Given the description of an element on the screen output the (x, y) to click on. 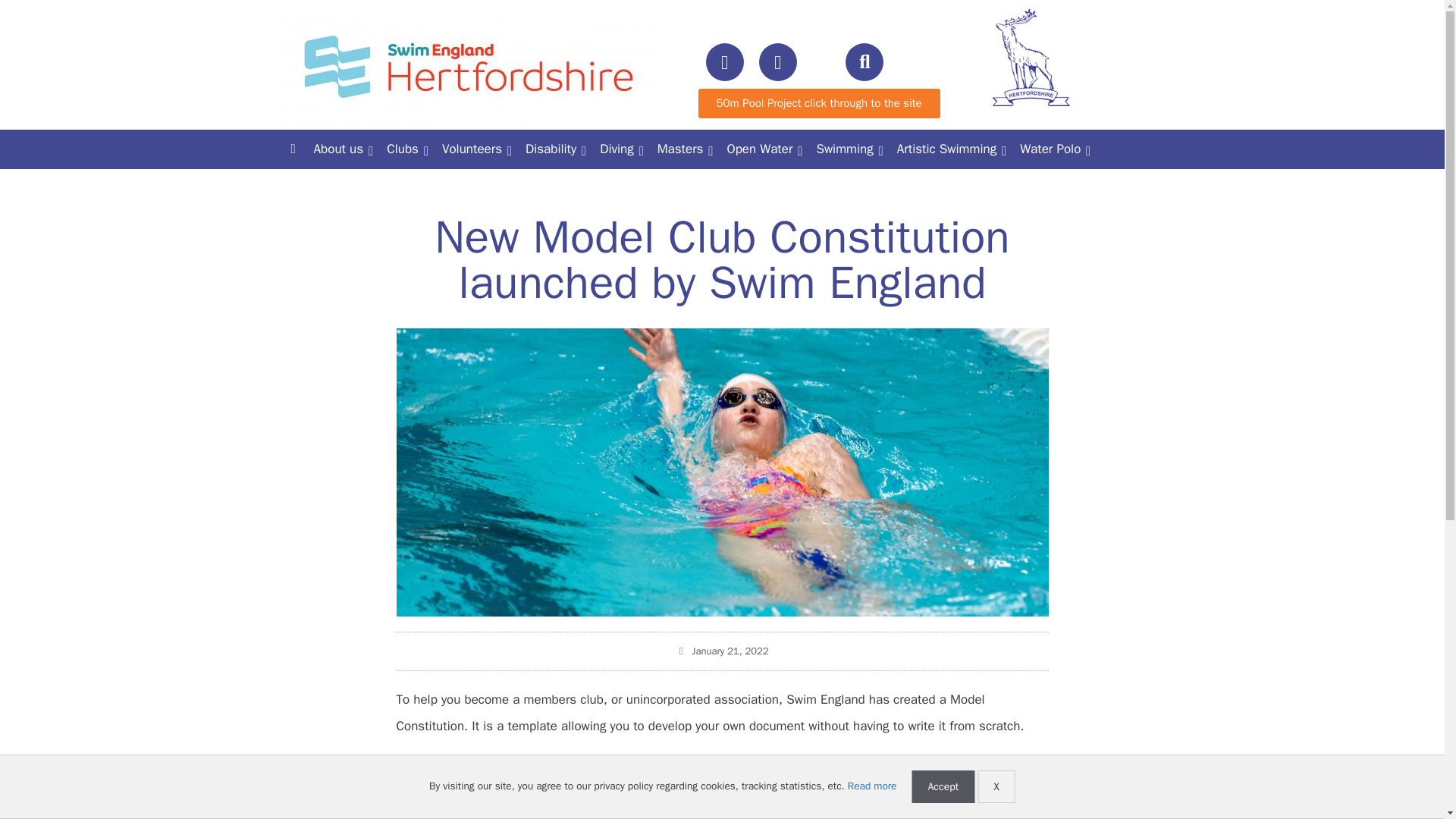
Read more (871, 785)
X (995, 786)
Accept (942, 786)
Home (293, 149)
50m Pool Project click through to the site (818, 102)
